Given the description of an element on the screen output the (x, y) to click on. 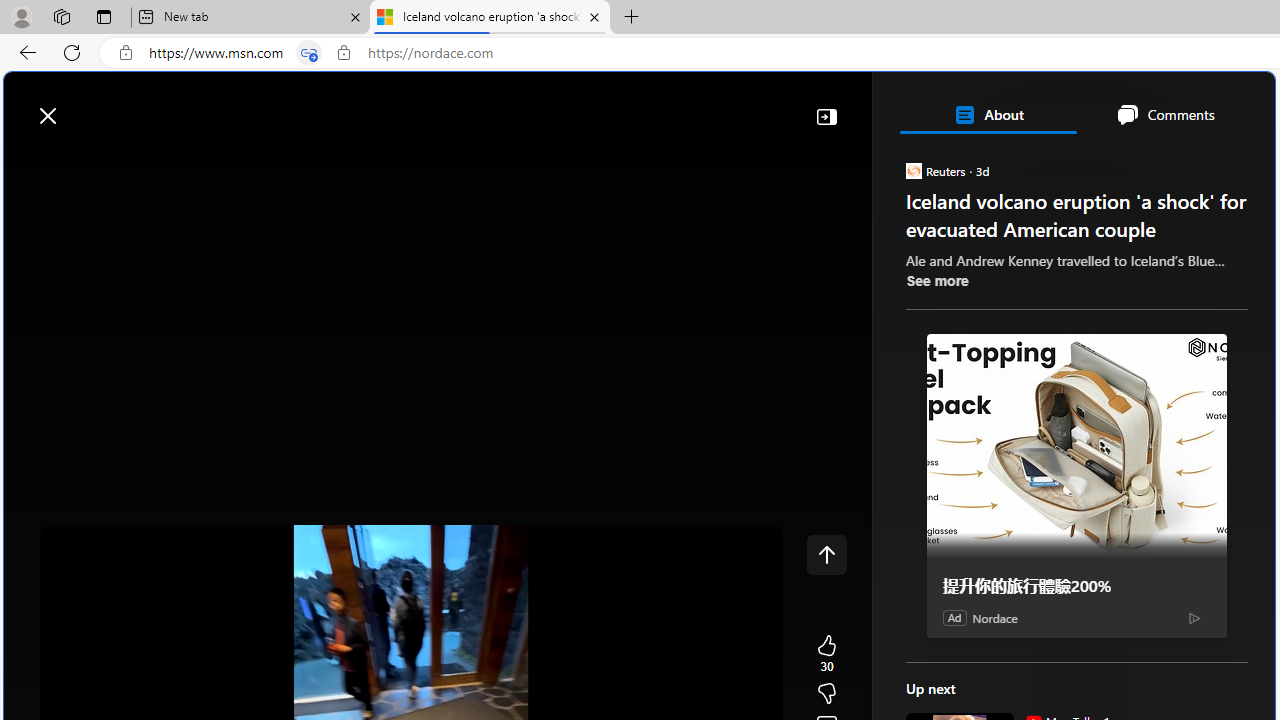
ABC News (974, 557)
Reuters (912, 170)
About (987, 114)
Love dogs? We do, too. (1084, 386)
Personalize (1195, 162)
30 Like (826, 653)
Collapse (826, 115)
The Seeing Eye (1020, 439)
